Given the description of an element on the screen output the (x, y) to click on. 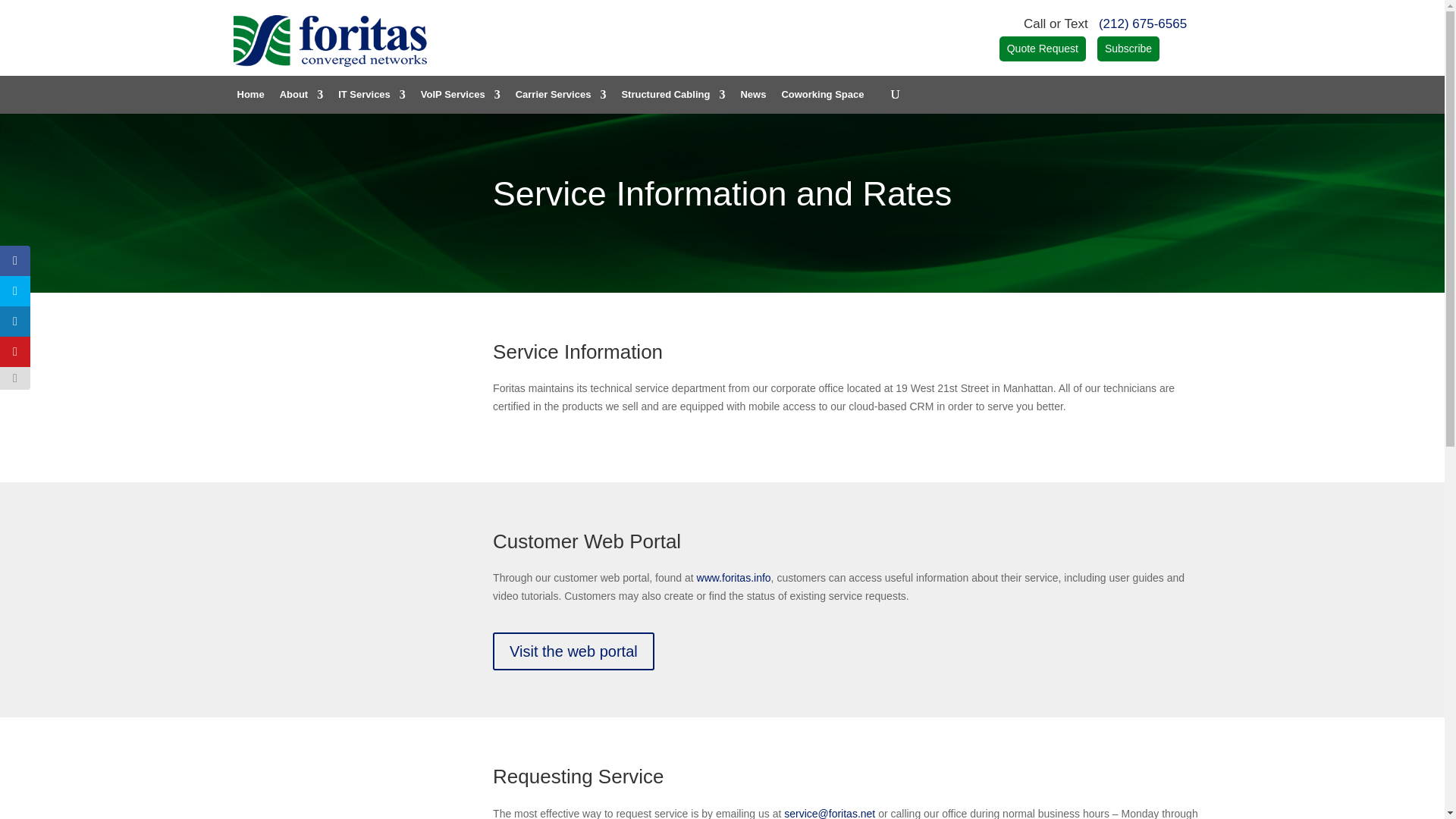
About (301, 101)
Home (249, 101)
Subscribe (1127, 48)
Quote Request (1042, 48)
